Given the description of an element on the screen output the (x, y) to click on. 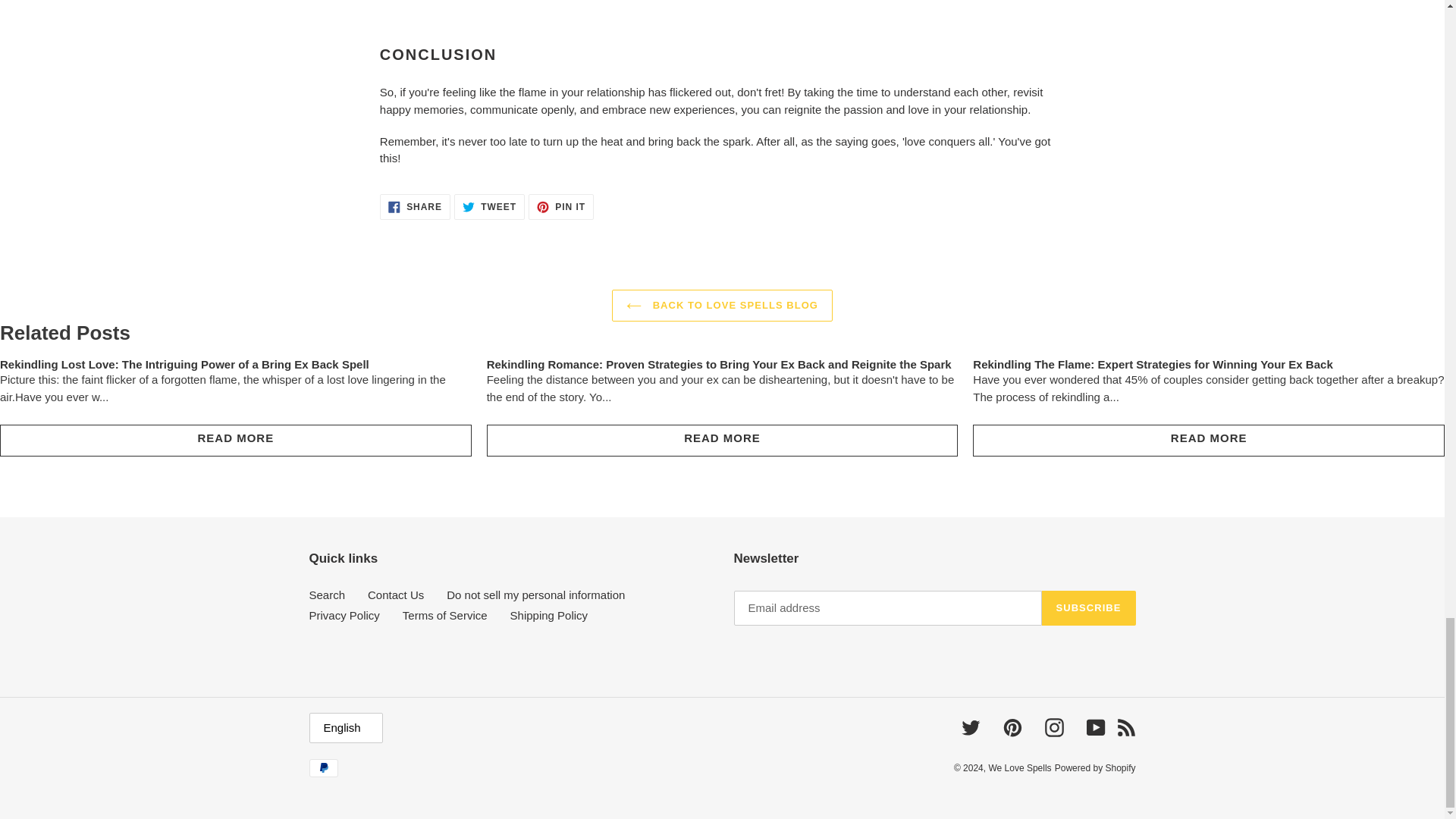
BACK TO LOVE SPELLS BLOG (414, 207)
